Given the description of an element on the screen output the (x, y) to click on. 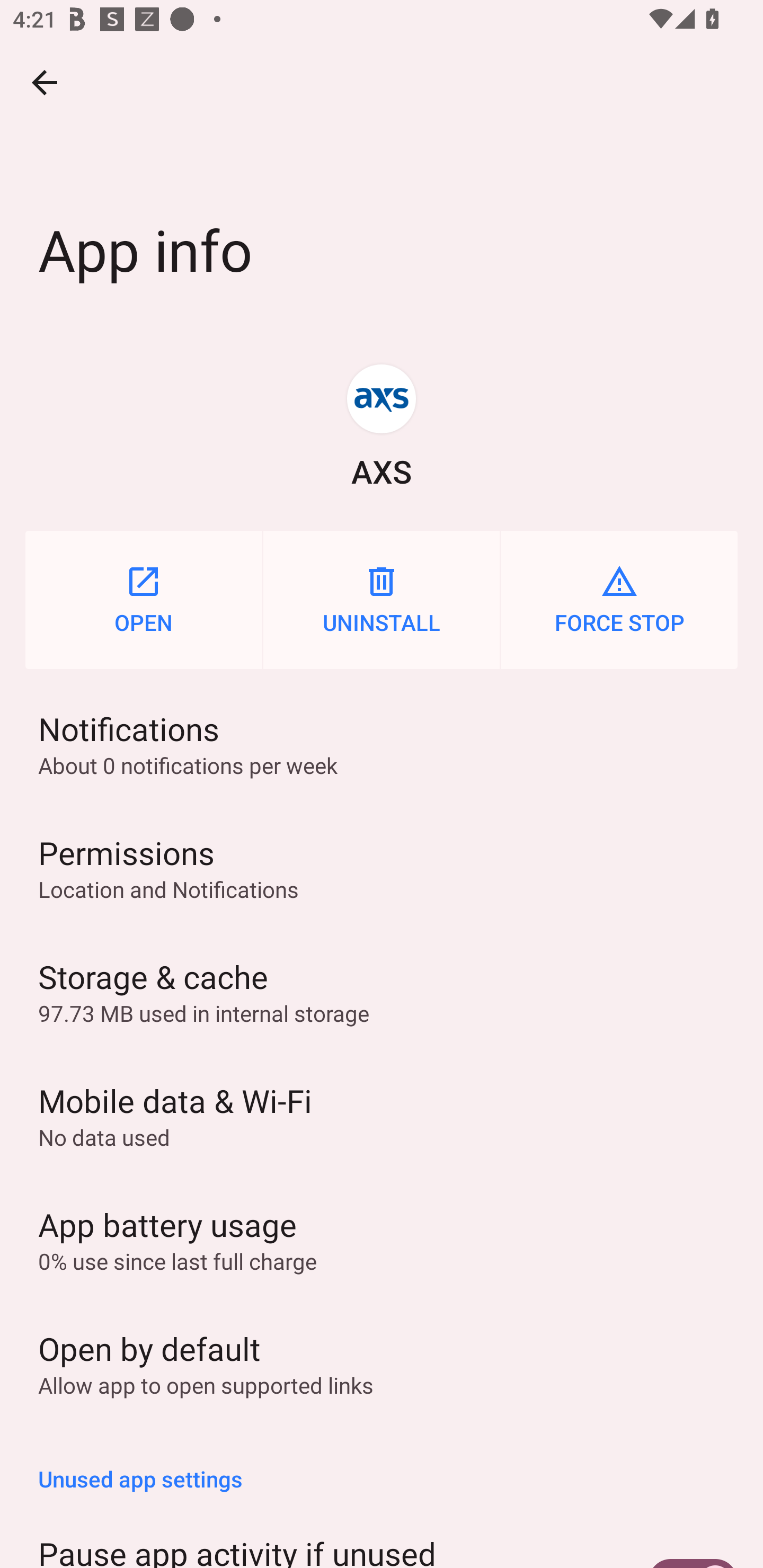
Navigate up (44, 82)
OPEN (143, 600)
UNINSTALL (381, 600)
FORCE STOP (619, 600)
Notifications About 0 notifications per week (381, 743)
Permissions Location and Notifications (381, 867)
Storage & cache 97.73 MB used in internal storage (381, 991)
Mobile data & Wi‑Fi No data used (381, 1115)
App battery usage 0% use since last full charge (381, 1239)
Open by default Allow app to open supported links (381, 1363)
